Given the description of an element on the screen output the (x, y) to click on. 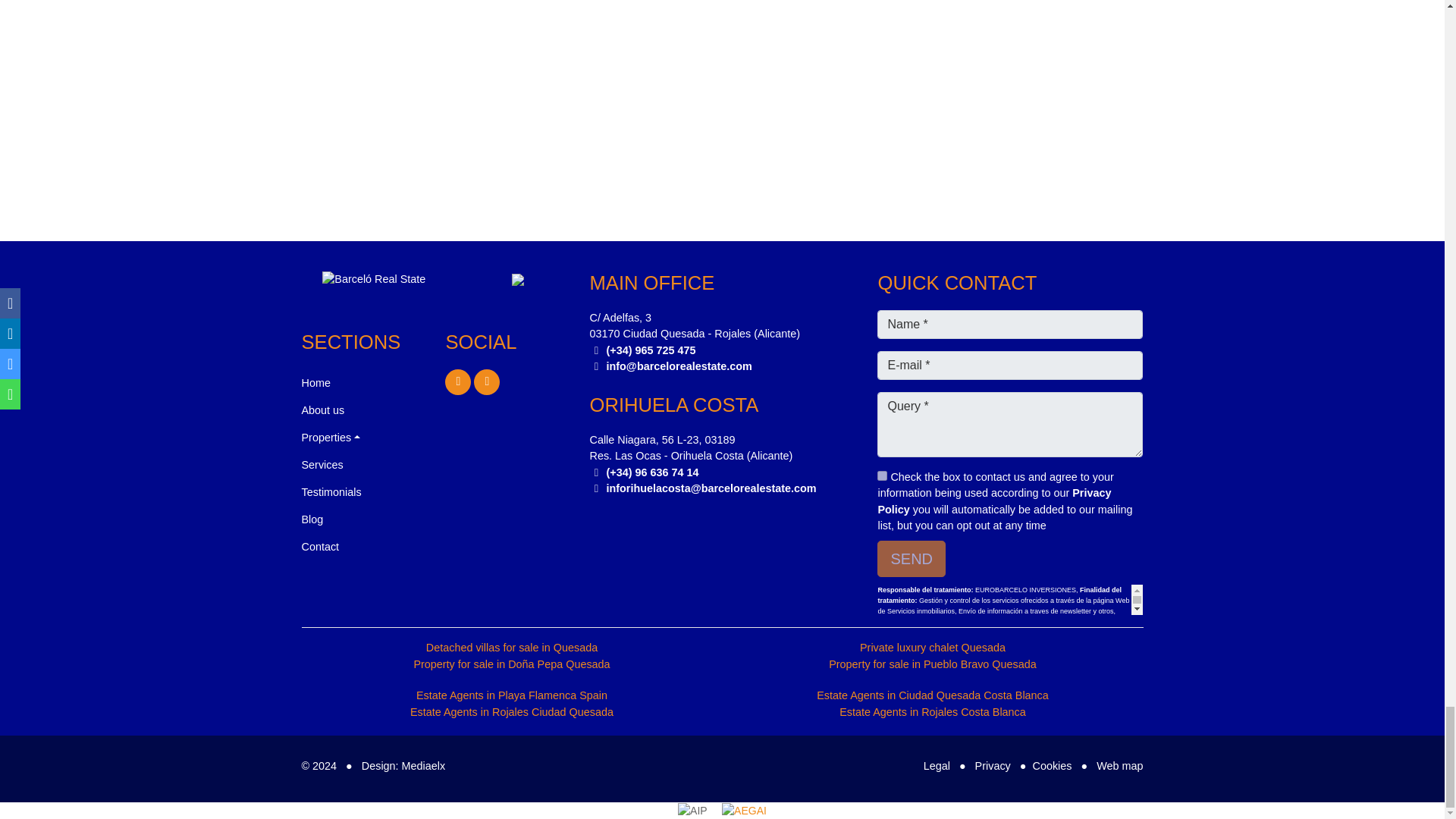
on (881, 474)
